Given the description of an element on the screen output the (x, y) to click on. 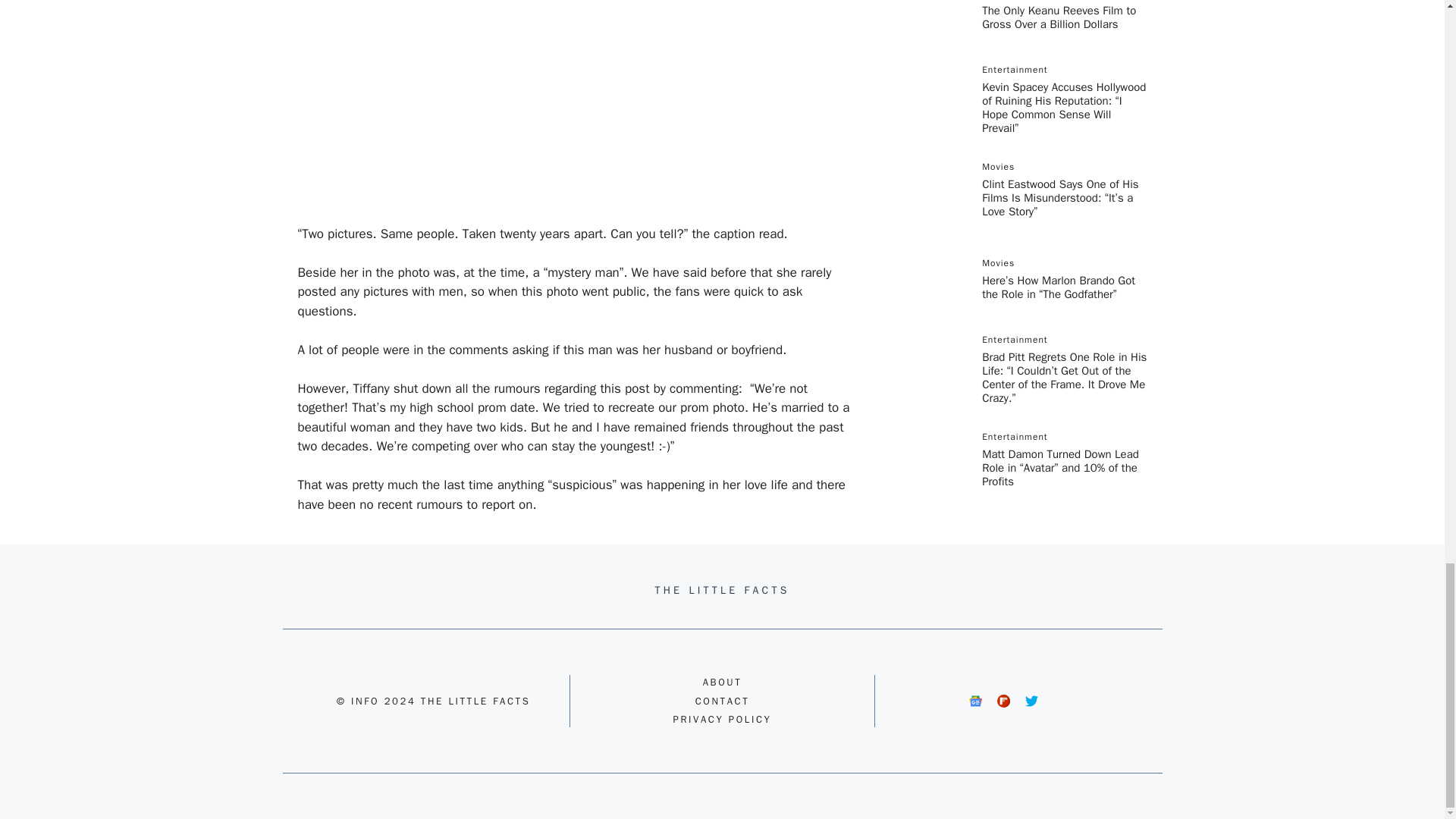
CONTACT (722, 700)
ABOUT (722, 681)
Twitter-color Created with Sketch. (1031, 700)
PRIVACY POLICY (721, 718)
Twitter-color Created with Sketch. (1031, 700)
